Given the description of an element on the screen output the (x, y) to click on. 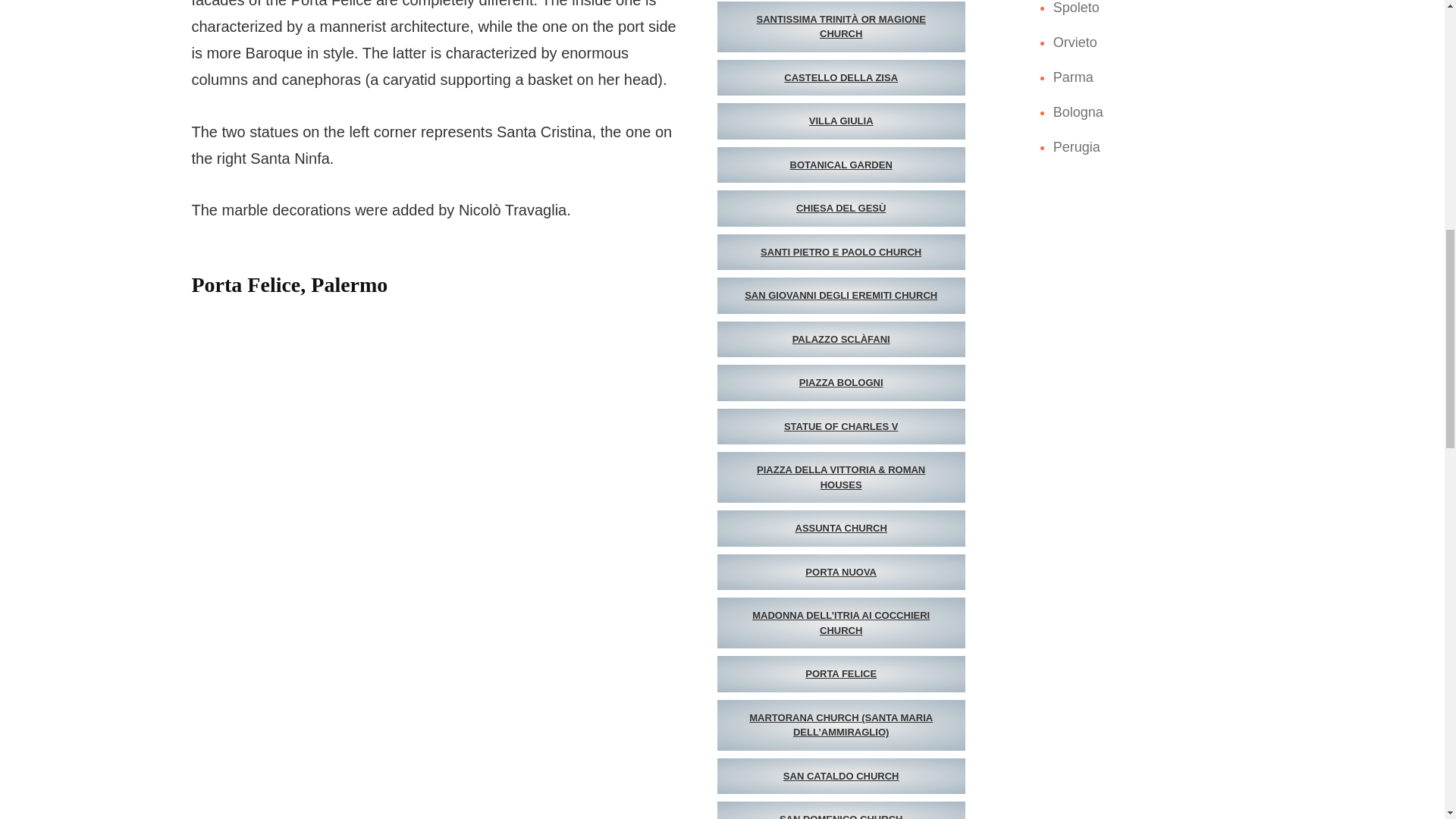
SANTI PIETRO E PAOLO CHURCH (841, 252)
VILLA GIULIA (841, 121)
BOTANICAL GARDEN (841, 165)
SAN GIOVANNI DEGLI EREMITI CHURCH (841, 295)
STATUE OF CHARLES V (841, 426)
PIAZZA BOLOGNI (841, 382)
CASTELLO DELLA ZISA (841, 77)
